Given the description of an element on the screen output the (x, y) to click on. 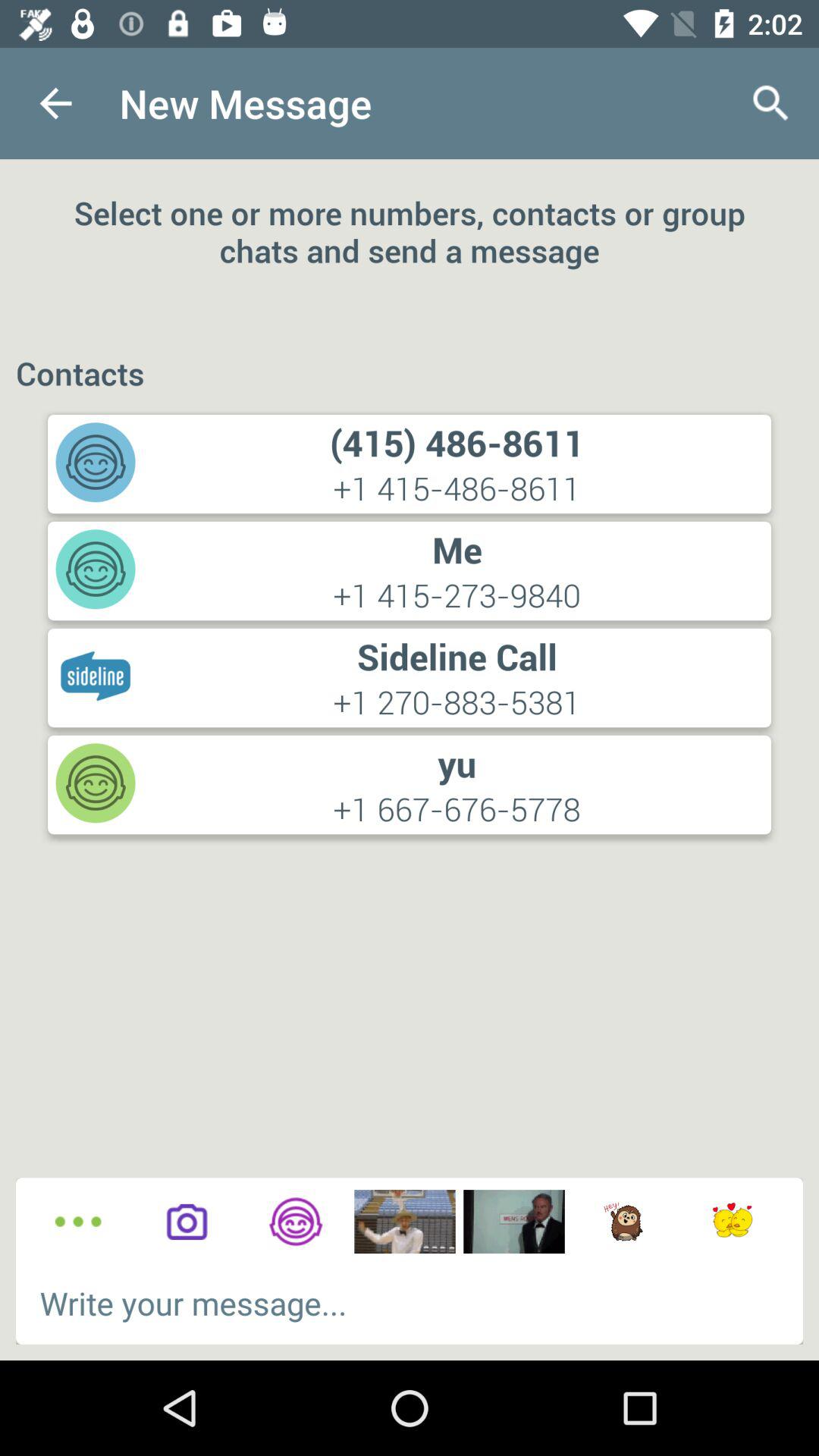
send picture (513, 1221)
